Given the description of an element on the screen output the (x, y) to click on. 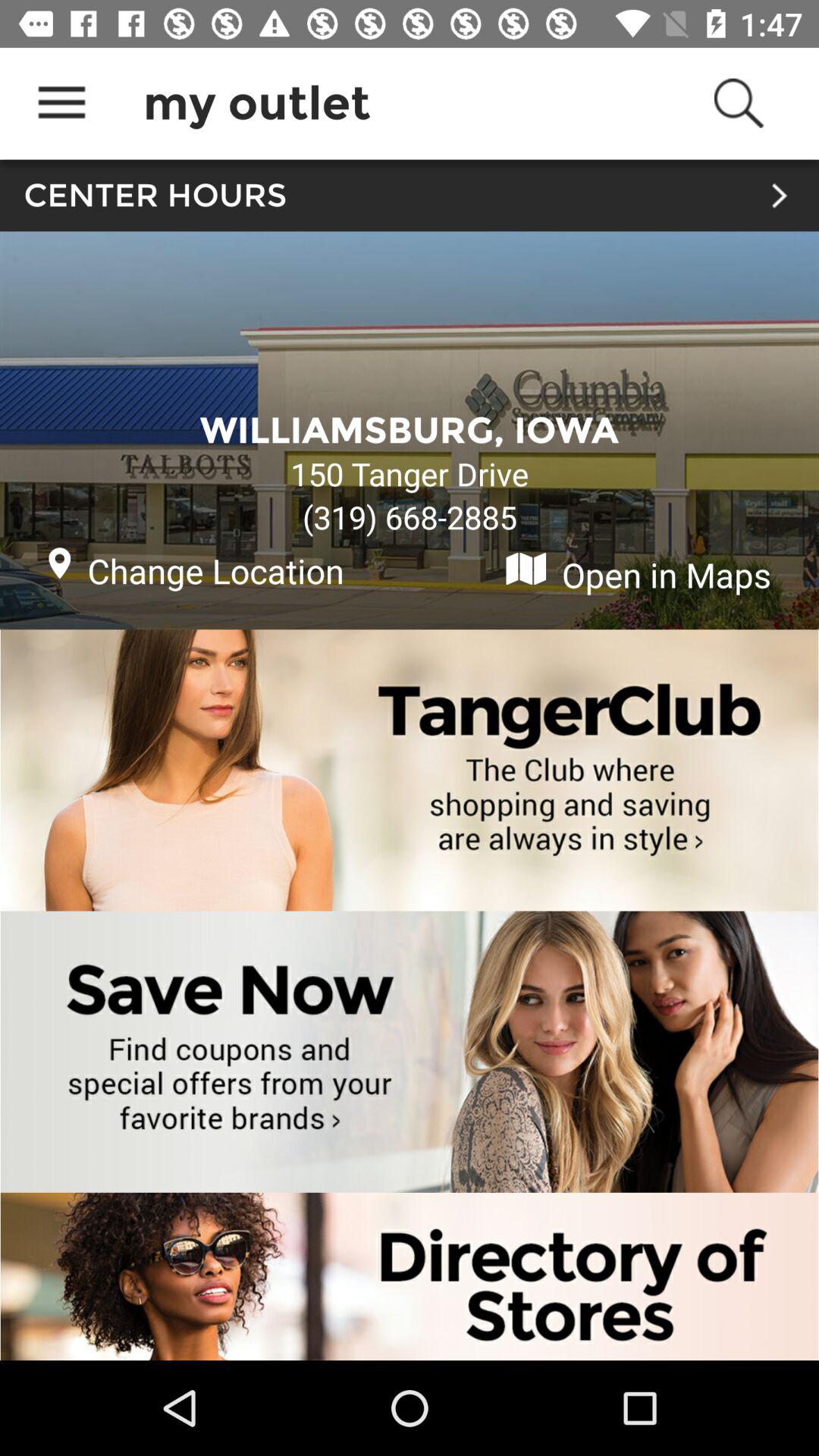
click icon next to my outlet (61, 103)
